Given the description of an element on the screen output the (x, y) to click on. 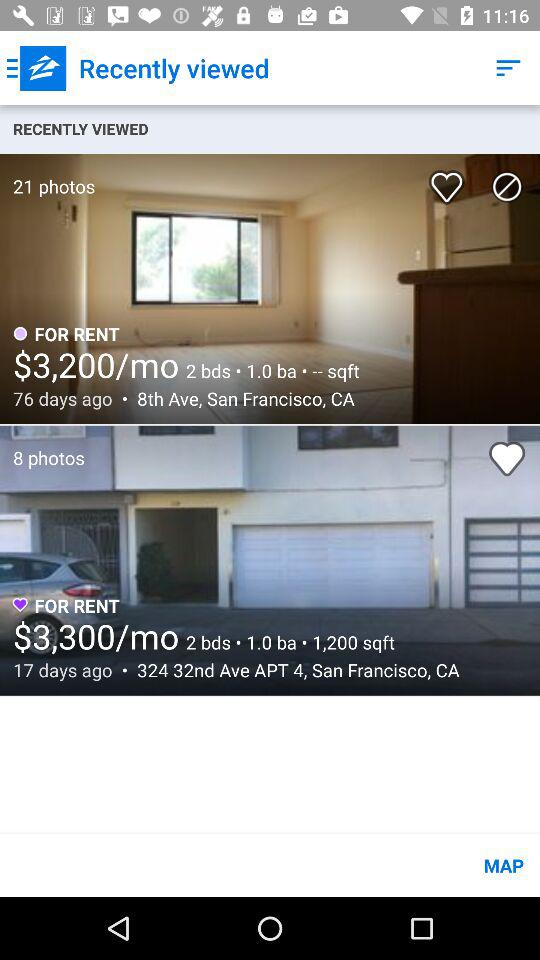
turn on icon to the right of the 8 photos icon (507, 458)
